Given the description of an element on the screen output the (x, y) to click on. 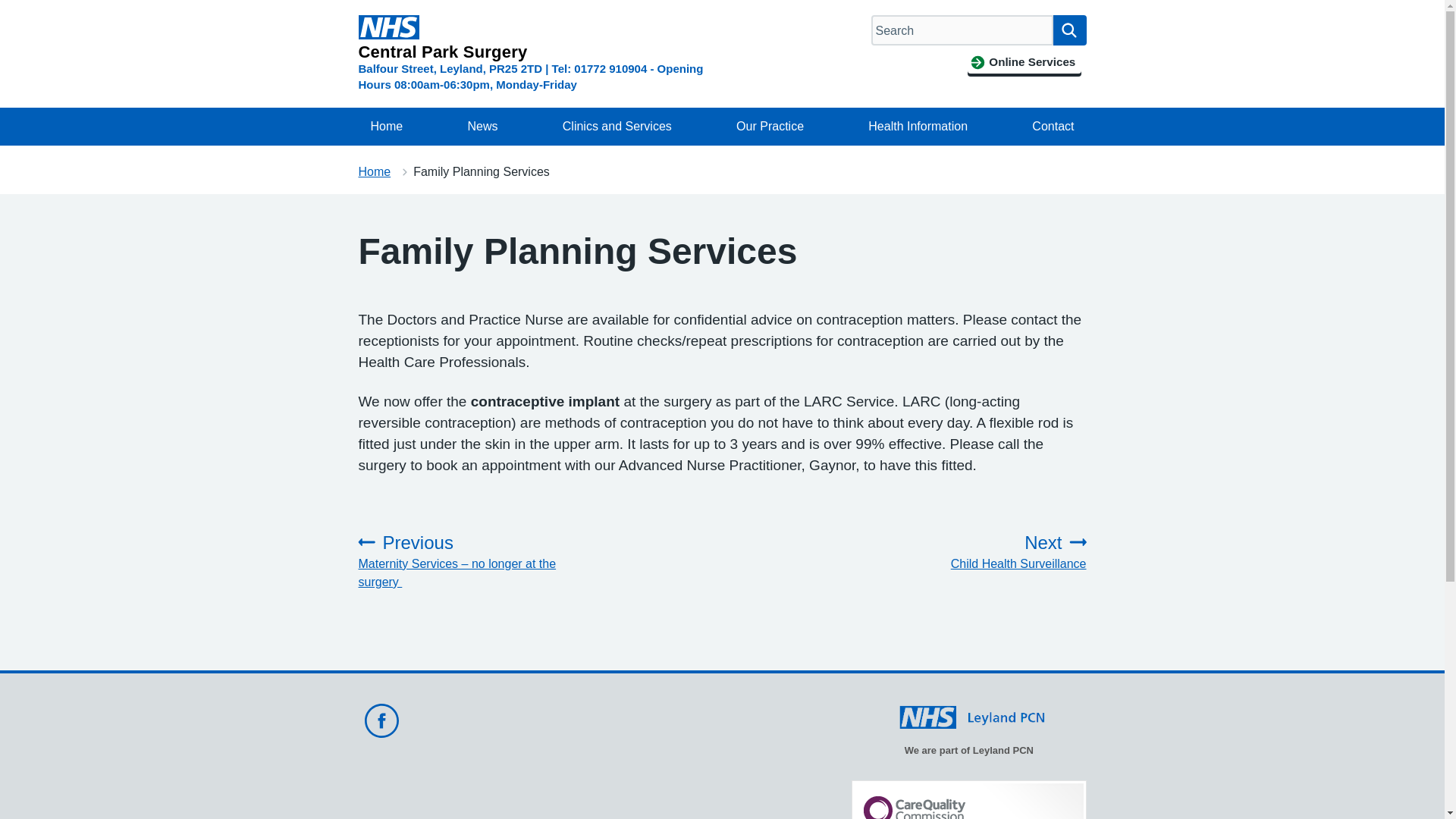
News (481, 126)
Health Information (917, 126)
Clinics and Services (617, 126)
Home (374, 171)
NHS Logo (388, 27)
Search (1069, 30)
Our Practice (769, 126)
Home (386, 126)
Online Services  (1024, 61)
Contact (1053, 126)
